Given the description of an element on the screen output the (x, y) to click on. 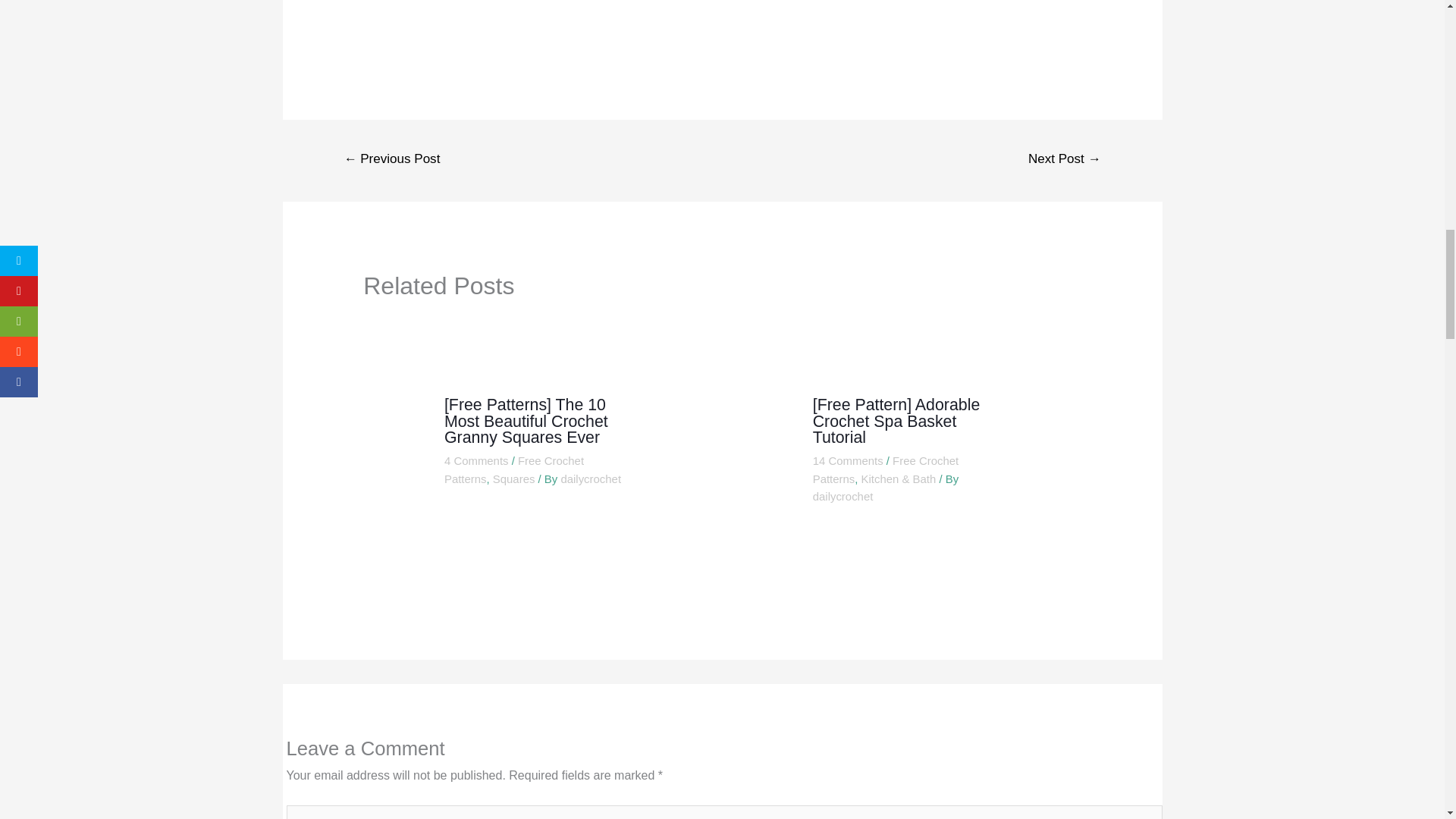
Free Crochet Patterns (885, 469)
dailycrochet (590, 478)
Squares (514, 478)
View all posts by dailycrochet (842, 495)
View all posts by dailycrochet (590, 478)
Free Crochet Patterns (513, 469)
dailycrochet (842, 495)
14 Comments (847, 460)
4 Comments (476, 460)
